Given the description of an element on the screen output the (x, y) to click on. 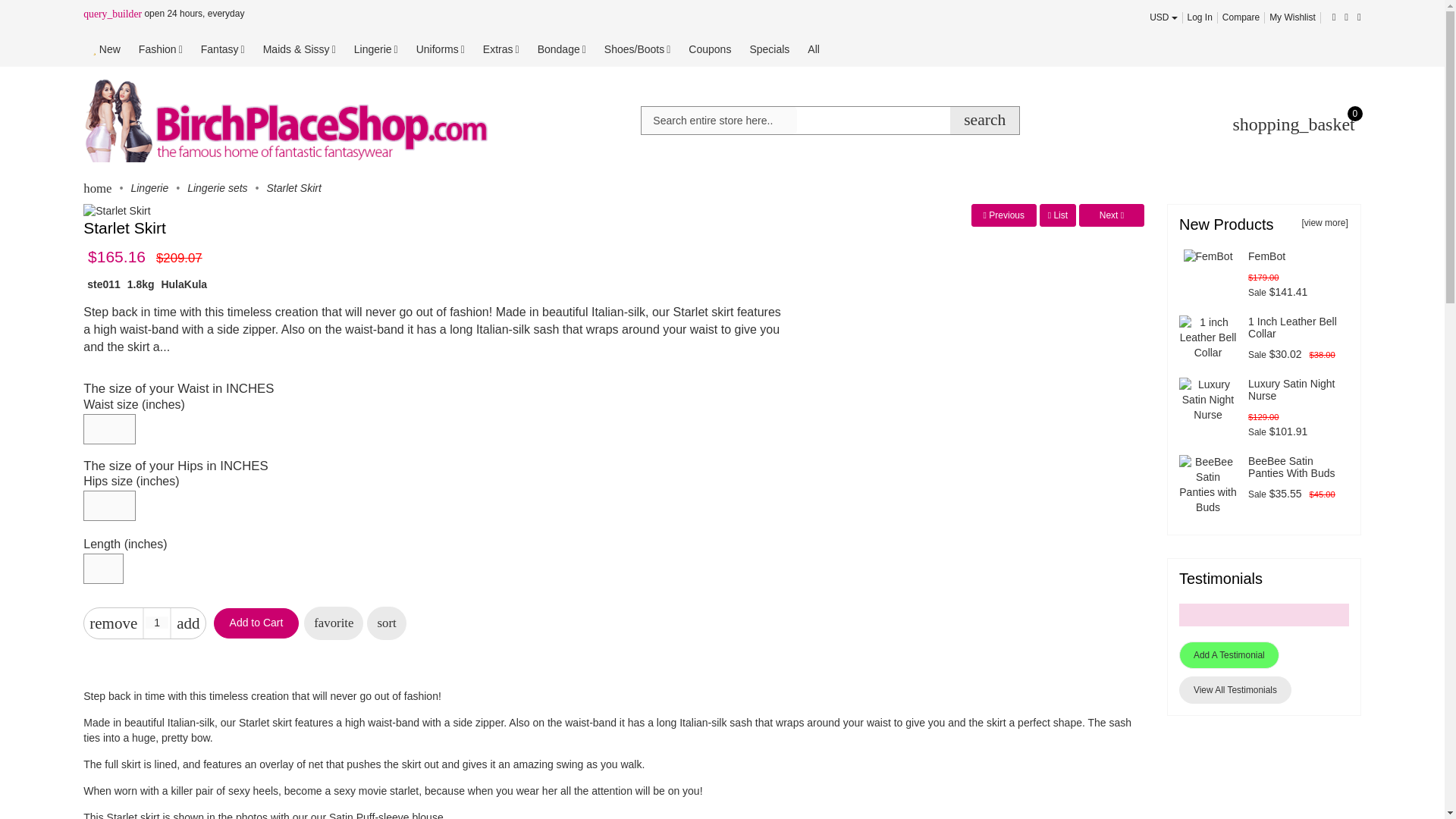
Compare (1241, 17)
My Wishlist (1292, 17)
 Starlet Skirt  (115, 211)
Add to Compare (386, 622)
1 (156, 622)
Add to Wishlist (333, 622)
Search entire store here.. (719, 120)
Log In (1200, 17)
